Given the description of an element on the screen output the (x, y) to click on. 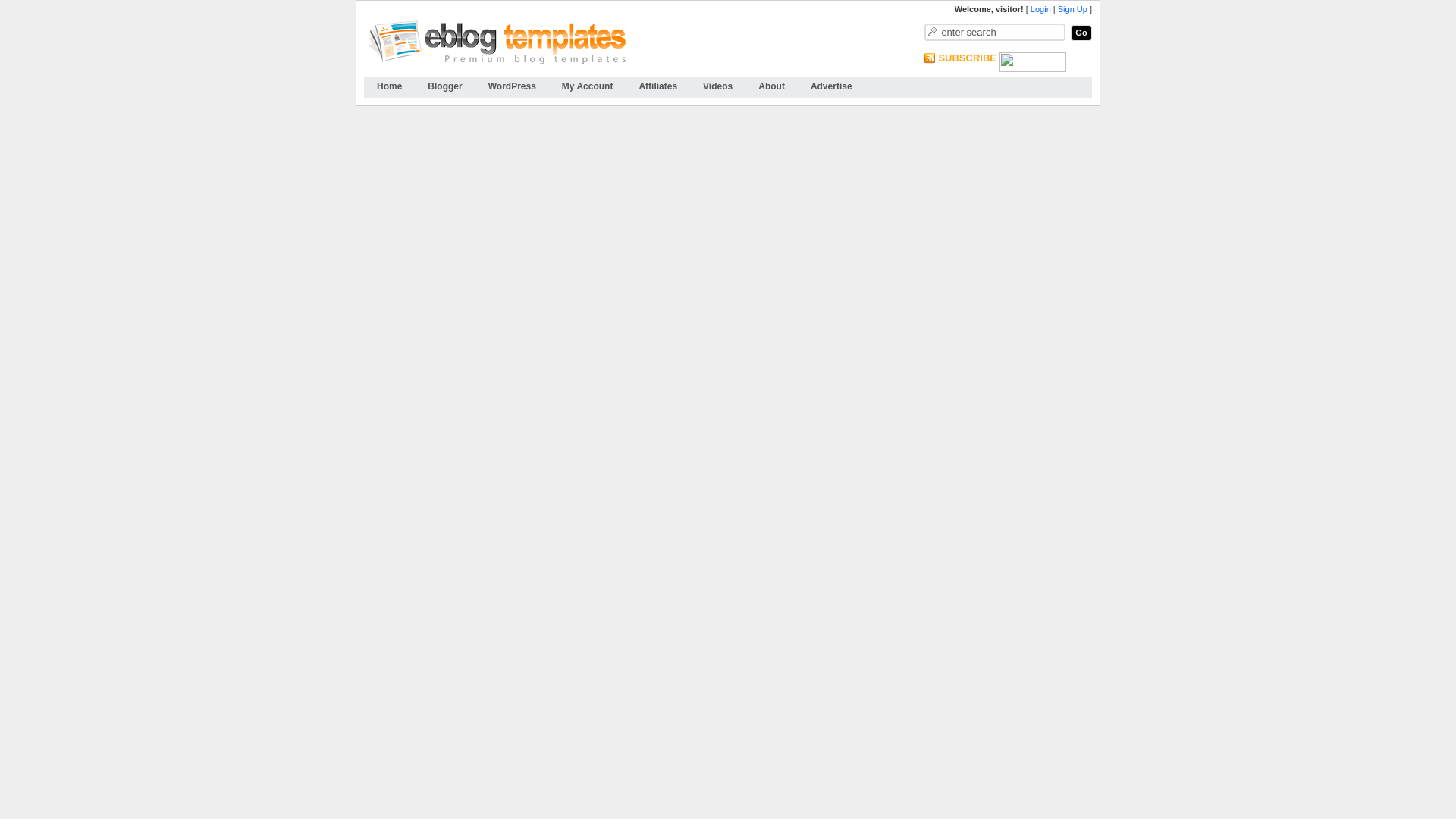
Go (1081, 32)
Advertise (830, 86)
Videos (717, 86)
Blogger (444, 86)
enter search (994, 31)
Free WordPress Templates (512, 86)
SUBSCRIBE (966, 57)
Sign Up (1072, 8)
Home (389, 86)
WordPress (512, 86)
Go (1081, 32)
About (771, 86)
My Account (587, 86)
My Account (587, 86)
Free Blog Templates Home (389, 86)
